Given the description of an element on the screen output the (x, y) to click on. 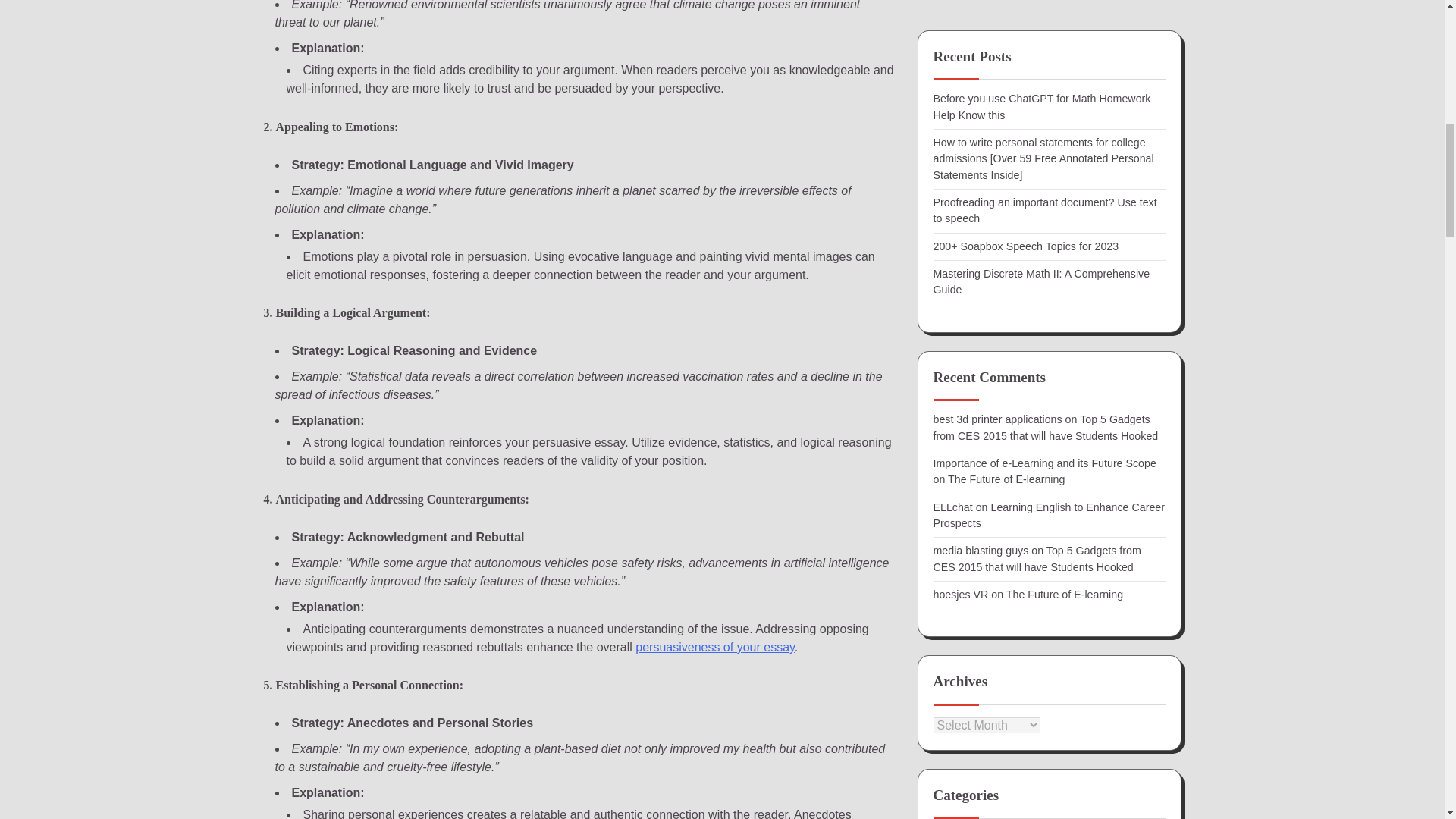
persuasiveness of your essay (714, 646)
persuasiveness of your essay (714, 646)
WordPress.org (968, 312)
Log in (947, 229)
Entries feed (961, 256)
Comments feed (971, 285)
